Given the description of an element on the screen output the (x, y) to click on. 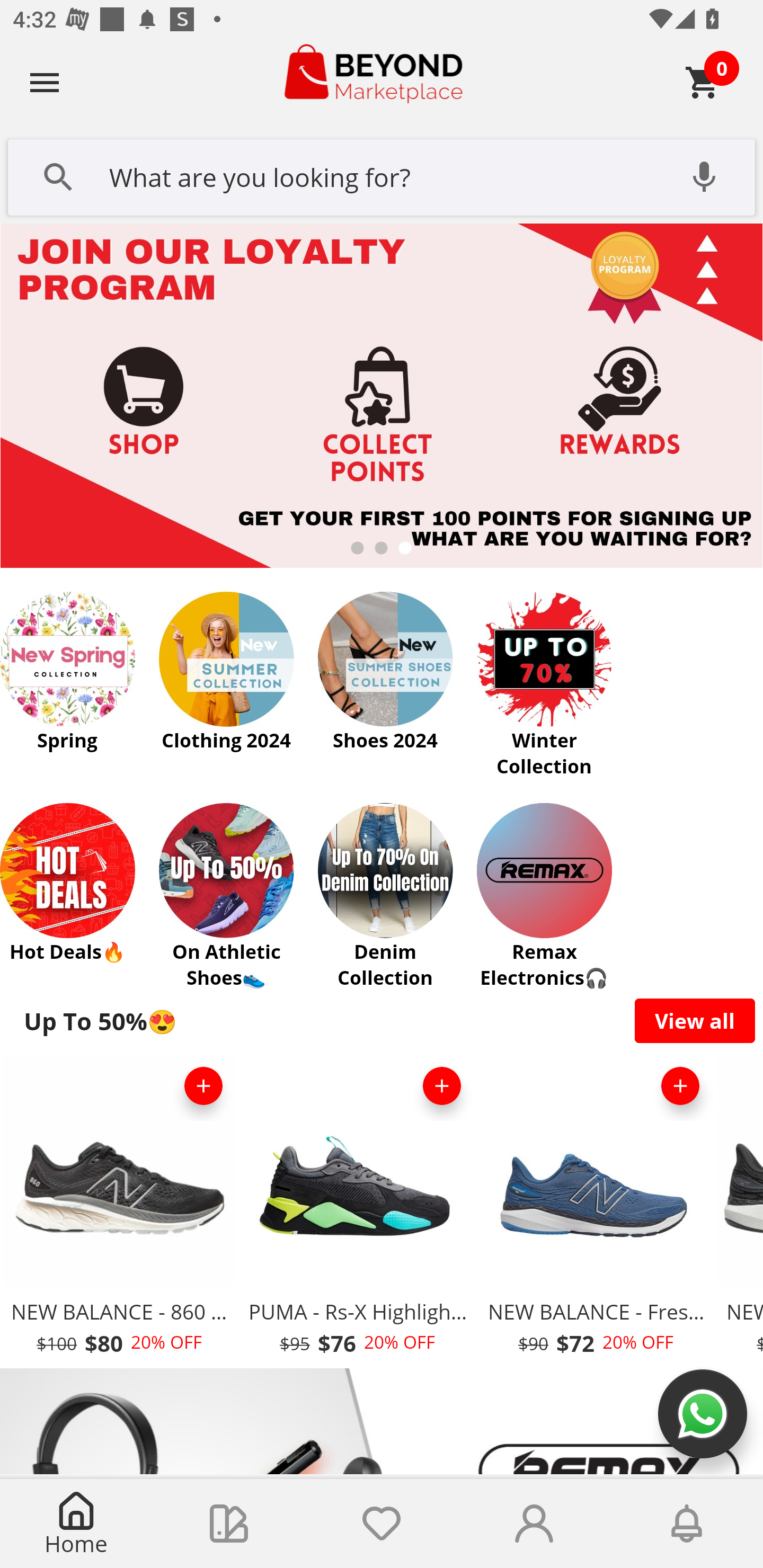
Navigate up (44, 82)
What are you looking for? (381, 175)
View all (694, 1020)
NEW BALANCE - 860 Running Shoes $100 $80 20% OFF (119, 1209)
Collections (228, 1523)
Wishlist (381, 1523)
Account (533, 1523)
Notifications (686, 1523)
